Given the description of an element on the screen output the (x, y) to click on. 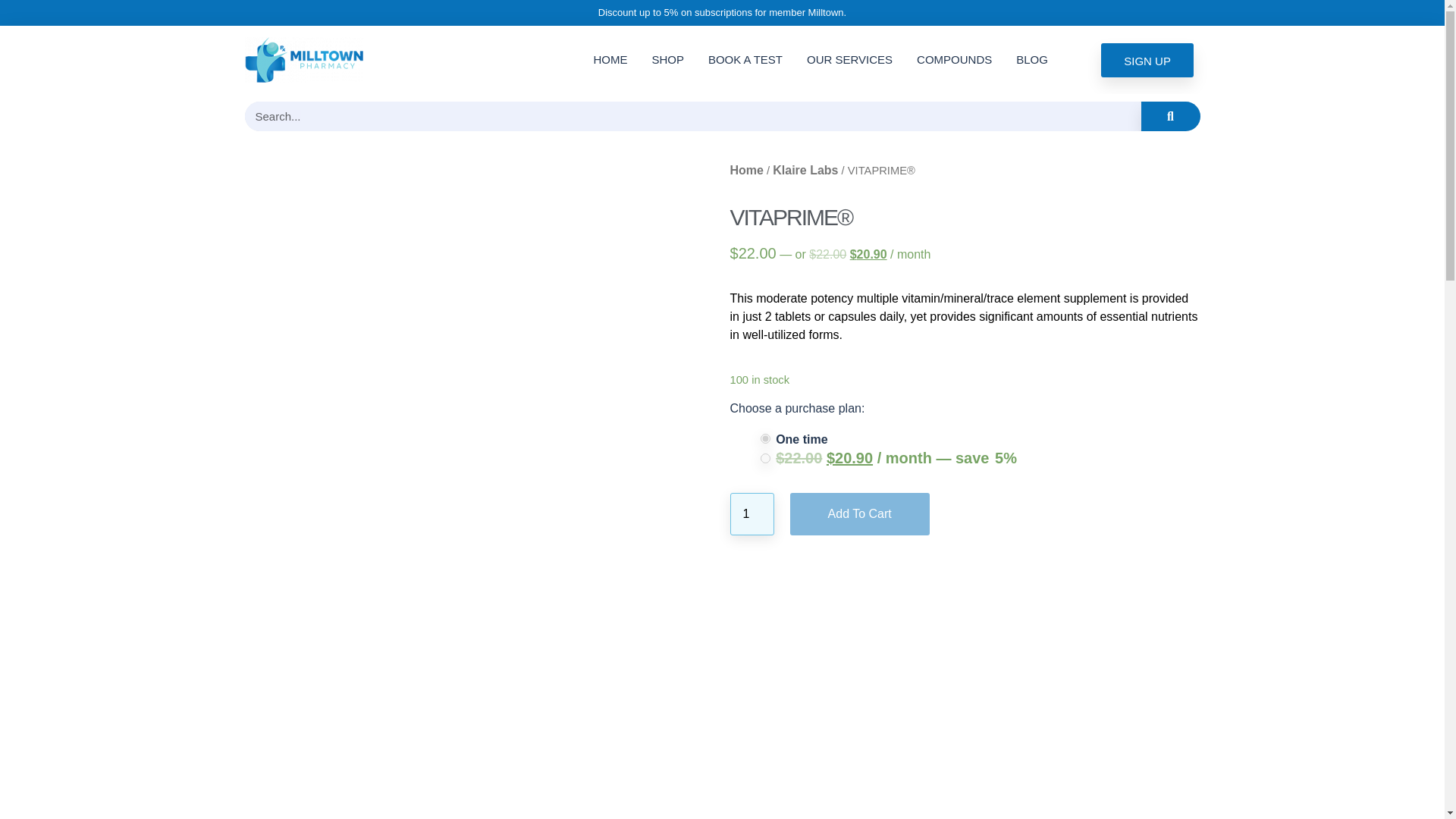
OUR SERVICES (849, 59)
SIGN UP (1146, 59)
Home (745, 169)
Klaire Labs (805, 169)
logo-1 (303, 59)
0 (765, 438)
Qty (751, 514)
Add To Cart (860, 514)
BOOK A TEST (745, 59)
Search (1169, 116)
Search (692, 116)
1 (751, 514)
COMPOUNDS (954, 59)
